Given the description of an element on the screen output the (x, y) to click on. 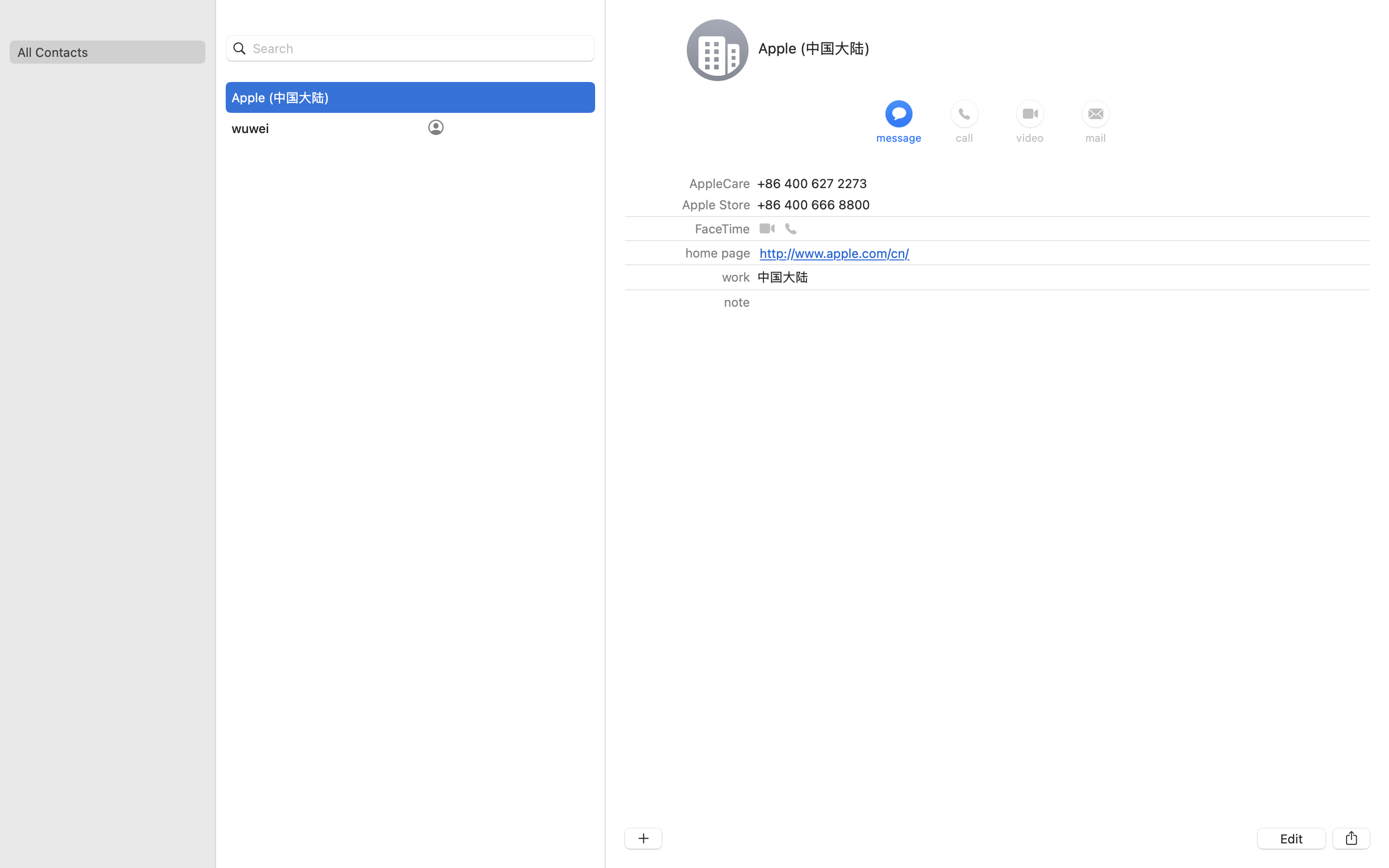
note Element type: AXStaticText (736, 301)
AppleCare Element type: AXStaticText (718, 182)
work Element type: AXStaticText (735, 276)
home page Element type: AXStaticText (716, 252)
‭+86 400 666 8800‬ Element type: AXStaticText (813, 204)
